Given the description of an element on the screen output the (x, y) to click on. 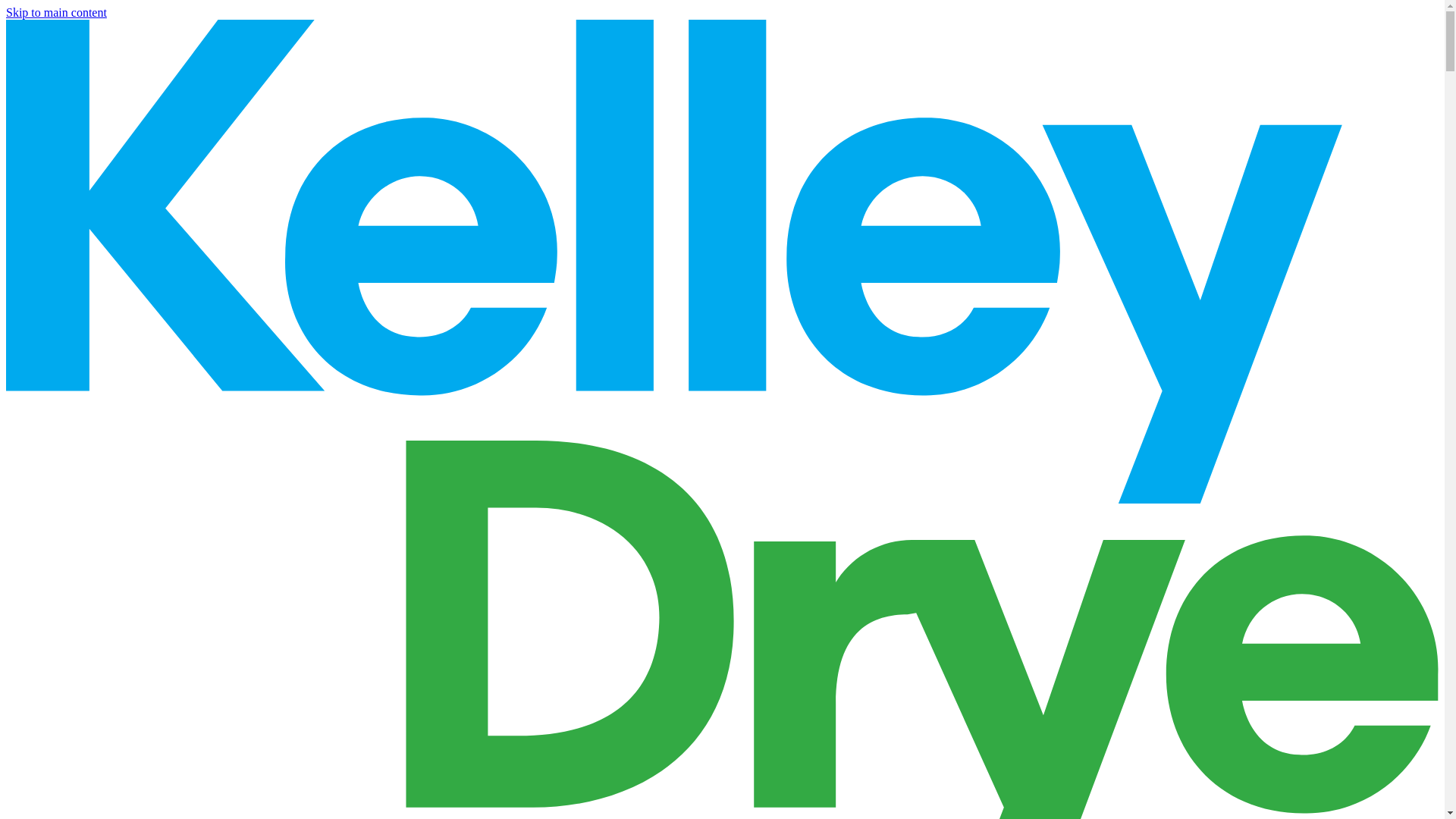
Skip to main content (55, 11)
